Given the description of an element on the screen output the (x, y) to click on. 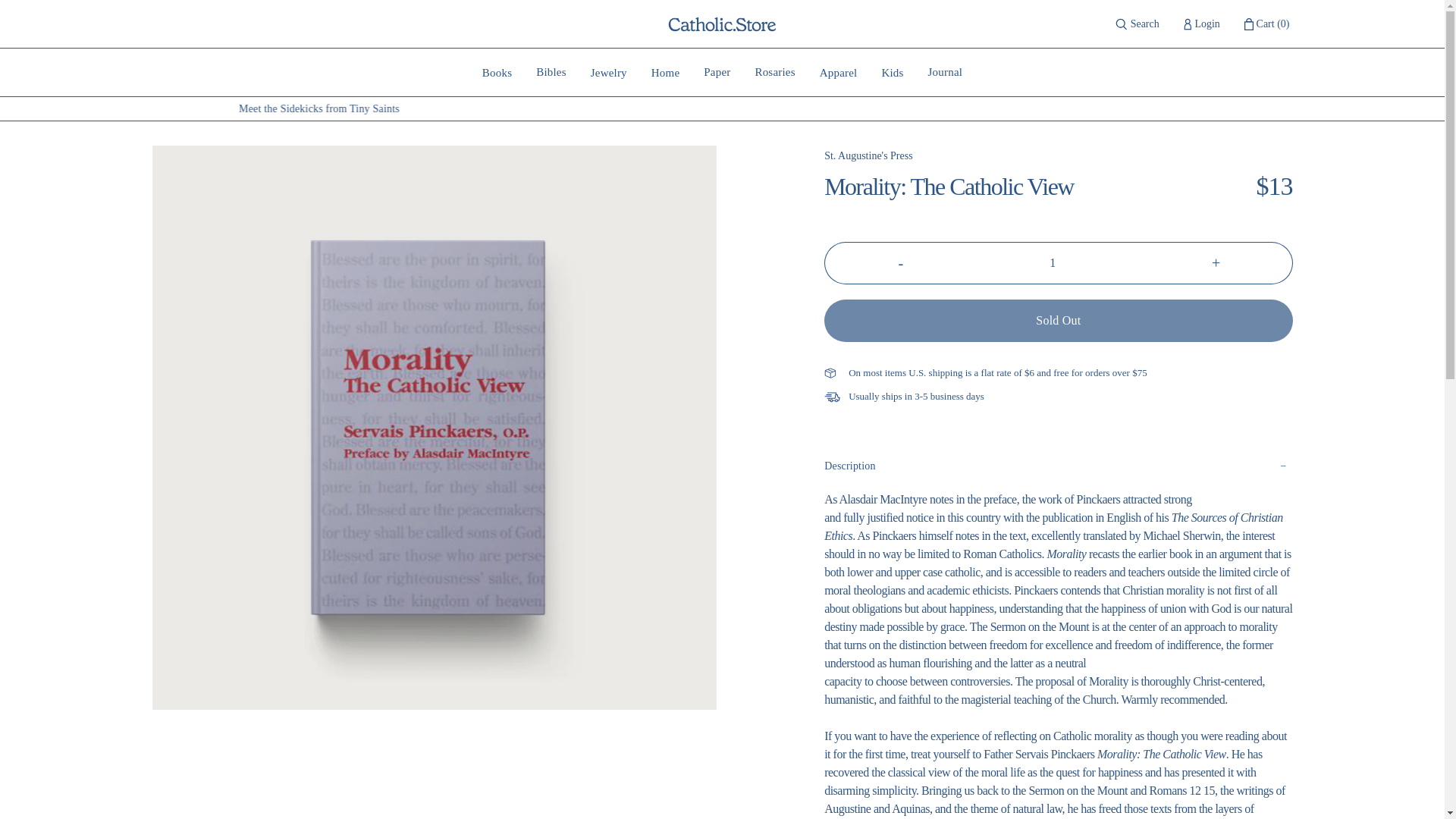
Sold Out (1058, 320)
1 (1058, 262)
Books (900, 262)
Jewelry (497, 72)
Bibles (608, 72)
Journal (551, 72)
Apparel (945, 72)
Login (838, 72)
St. Augustine's Press (1201, 23)
